Given the description of an element on the screen output the (x, y) to click on. 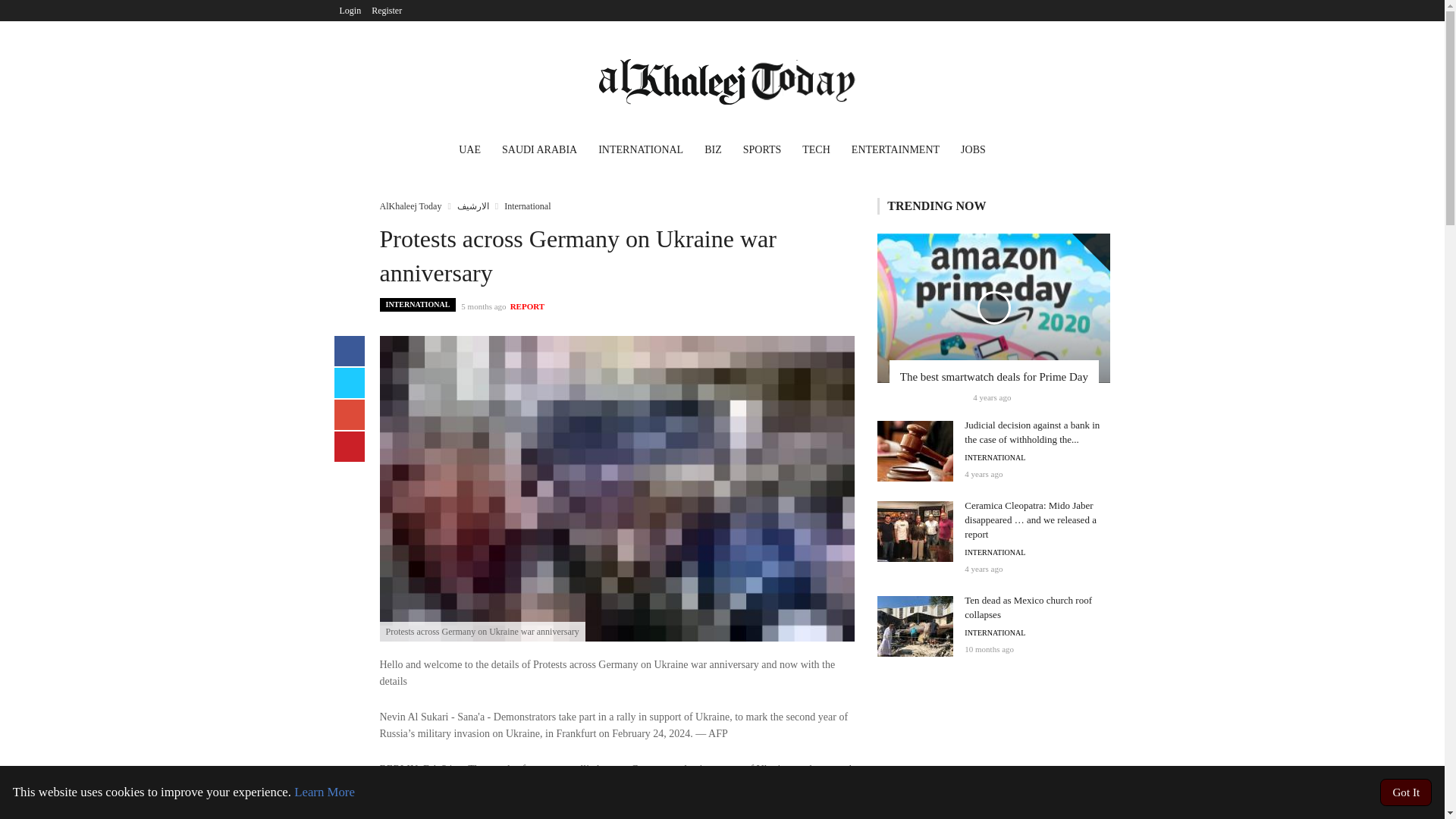
Saturday 24th February 2024 08:07 PM (483, 306)
Protests across Germany on Ukraine war anniversary (616, 487)
Wednesday 14th October 2020 01:41 AM (991, 397)
Register (386, 10)
Learn More (324, 791)
Thursday 26th November 2020 03:54 AM (983, 568)
Learn More (324, 791)
REPORT (527, 306)
International (526, 205)
Monday 02nd October 2023 01:44 PM (988, 648)
BIZ (713, 151)
Friday 06th November 2020 08:09 AM (983, 473)
SPORTS (762, 151)
JOBS (972, 151)
Got It (1405, 791)
